Given the description of an element on the screen output the (x, y) to click on. 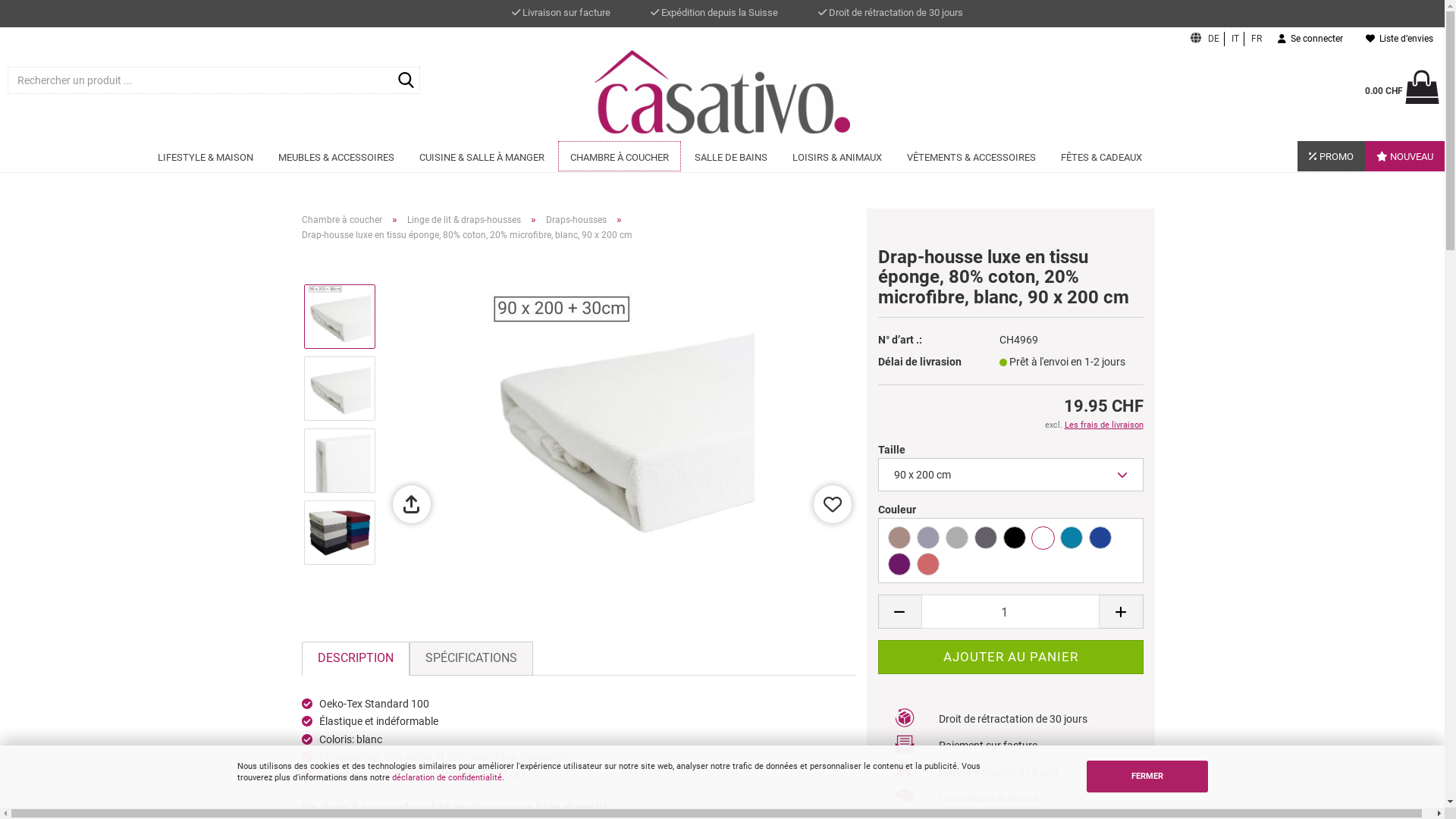
AJOUTER AU PANIER Element type: text (1010, 657)
search-input Element type: text (405, 80)
Se connecter Element type: text (1227, 212)
FERMER Element type: text (1146, 776)
PROMO Element type: text (1331, 156)
90 x 200 cm Element type: text (1010, 475)
Draps-housses Element type: text (576, 219)
LIFESTYLE & MAISON Element type: text (204, 156)
 Se connecter Element type: text (1310, 38)
NOUVEAU Element type: text (1404, 156)
LOISIRS & ANIMAUX Element type: text (837, 156)
it Element type: text (1235, 38)
#a98c84 Element type: text (4, 4)
Les frais de livraison Element type: text (1103, 424)
casativo Element type: hover (722, 91)
Linge de lit & draps-housses Element type: text (463, 219)
SALLE DE BAINS Element type: text (730, 156)
fr Element type: text (1256, 38)
MEUBLES & ACCESSOIRES Element type: text (335, 156)
DESCRIPTION Element type: text (355, 658)
de Element type: text (1213, 38)
